Given the description of an element on the screen output the (x, y) to click on. 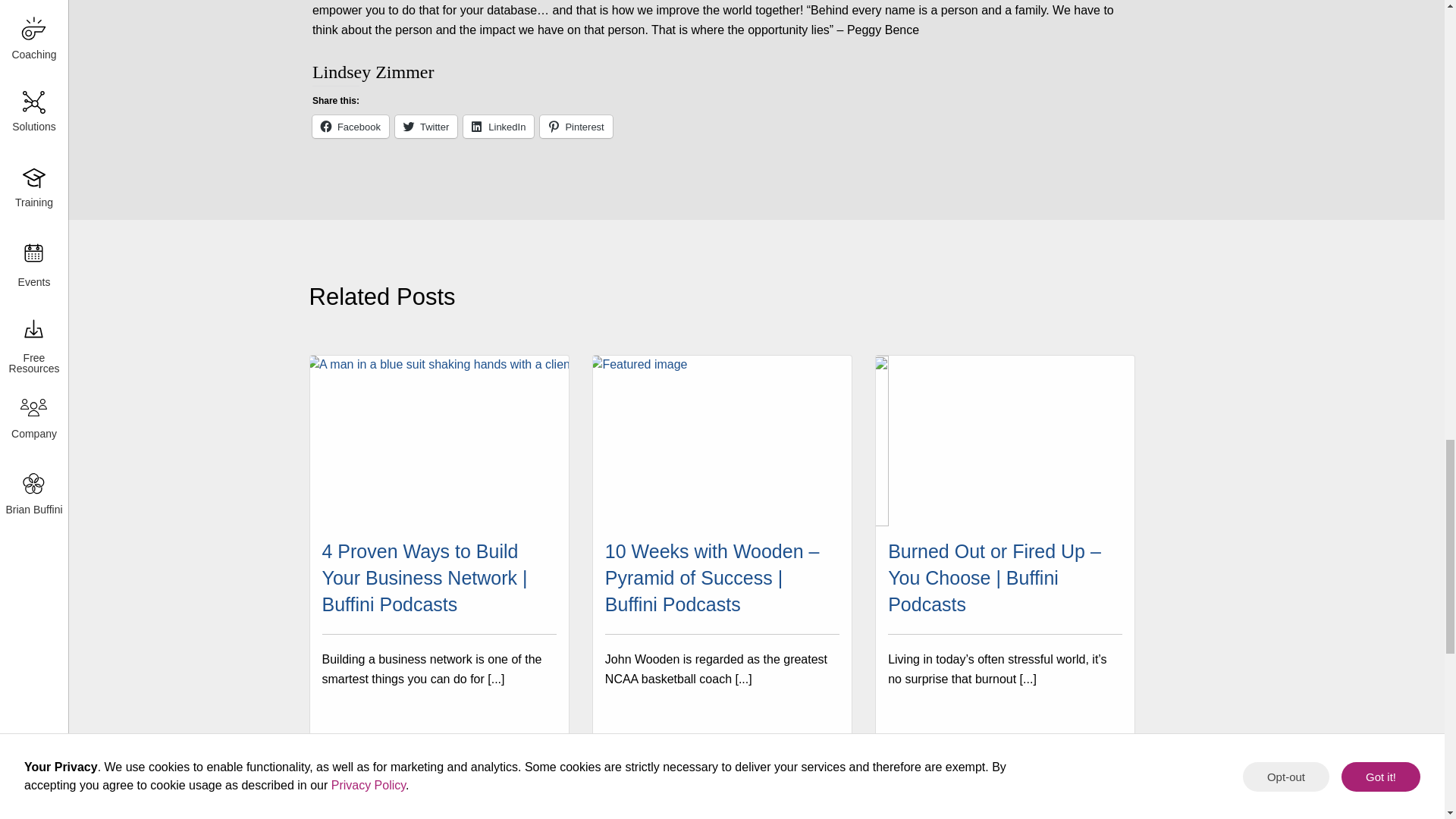
Click to share on Twitter (425, 126)
Click to share on LinkedIn (498, 126)
Click to share on Facebook (350, 126)
Click to share on Pinterest (575, 126)
